Given the description of an element on the screen output the (x, y) to click on. 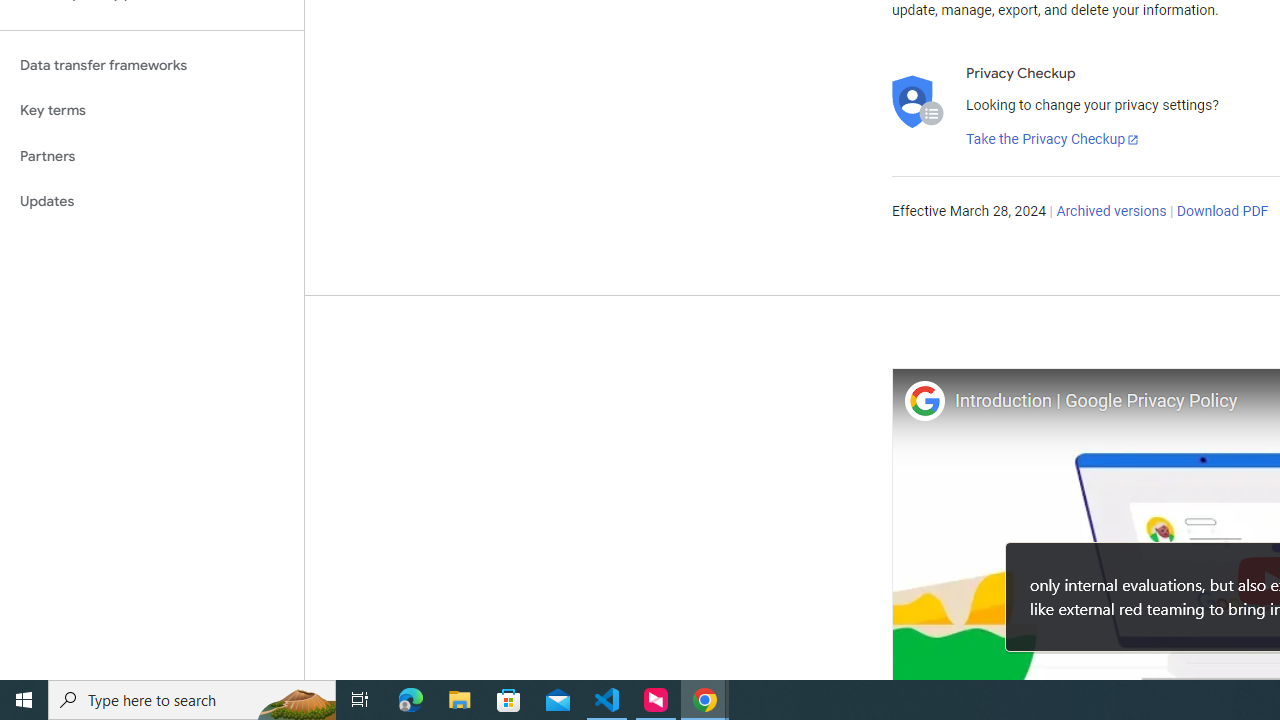
Take the Privacy Checkup (1053, 140)
Partners (152, 156)
Data transfer frameworks (152, 65)
Photo image of Google (924, 400)
Key terms (152, 110)
Archived versions (1111, 212)
Download PDF (1222, 212)
